Given the description of an element on the screen output the (x, y) to click on. 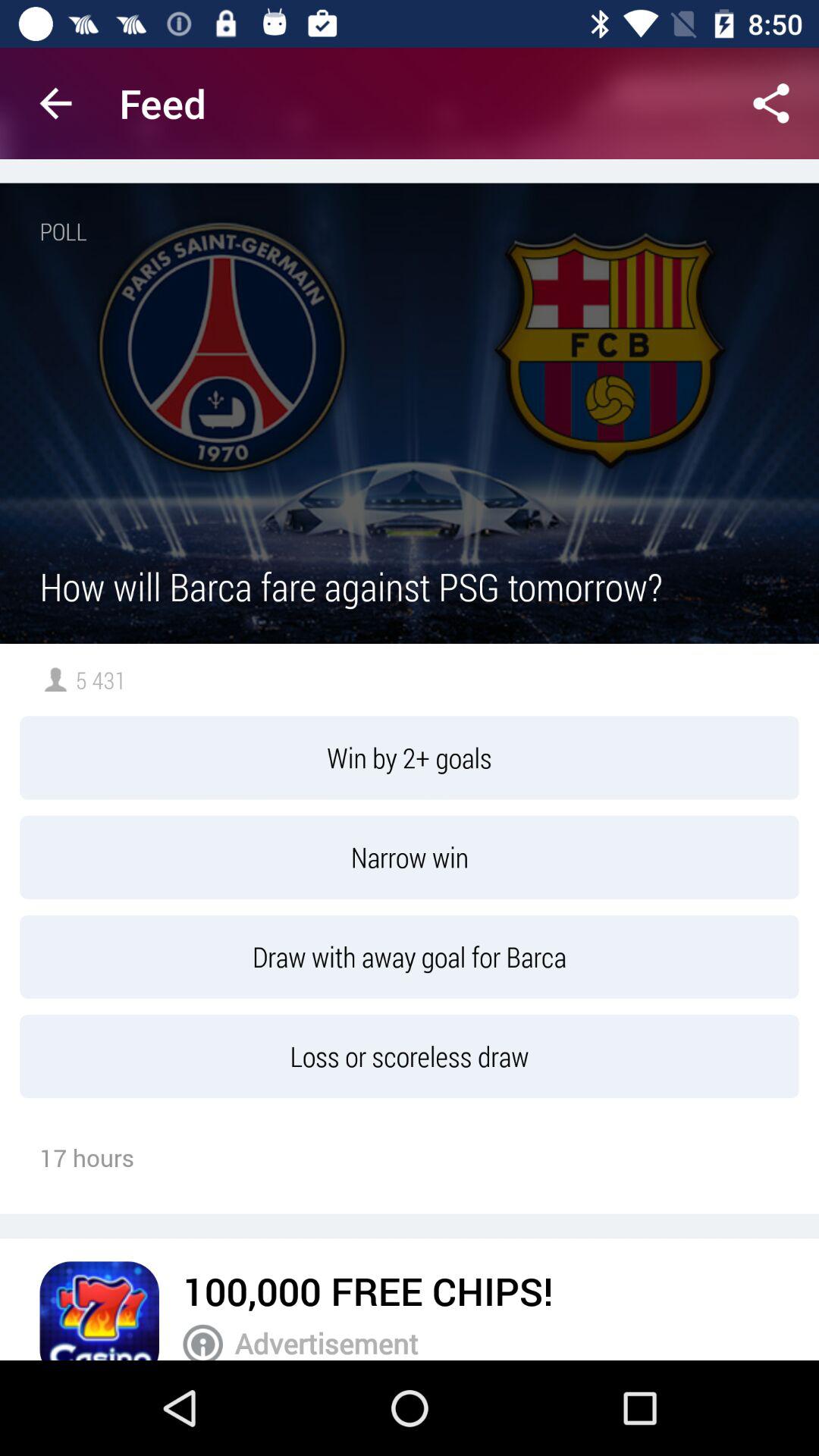
click the item below the draw with away item (409, 1056)
